Given the description of an element on the screen output the (x, y) to click on. 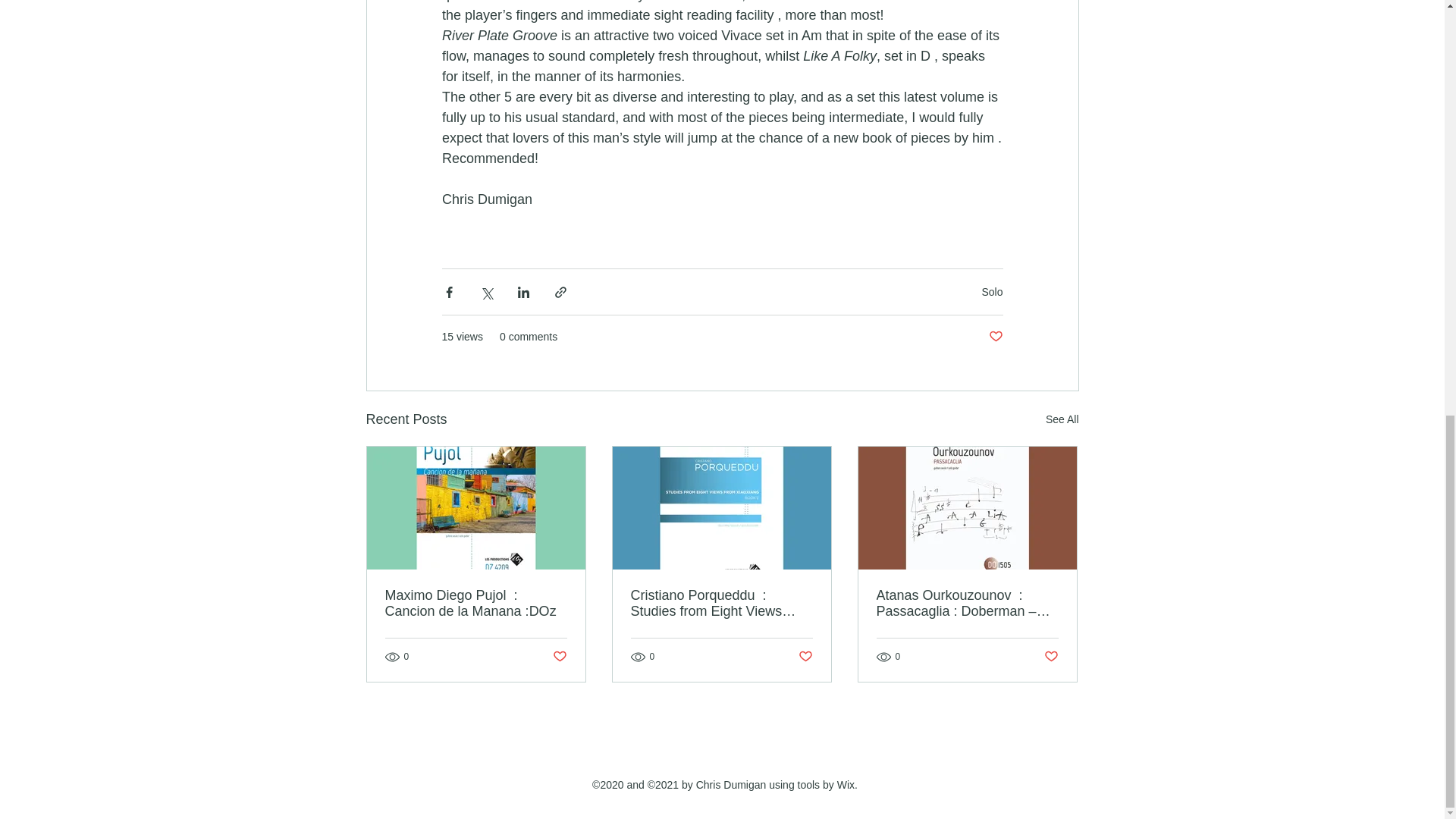
Solo (992, 291)
